Given the description of an element on the screen output the (x, y) to click on. 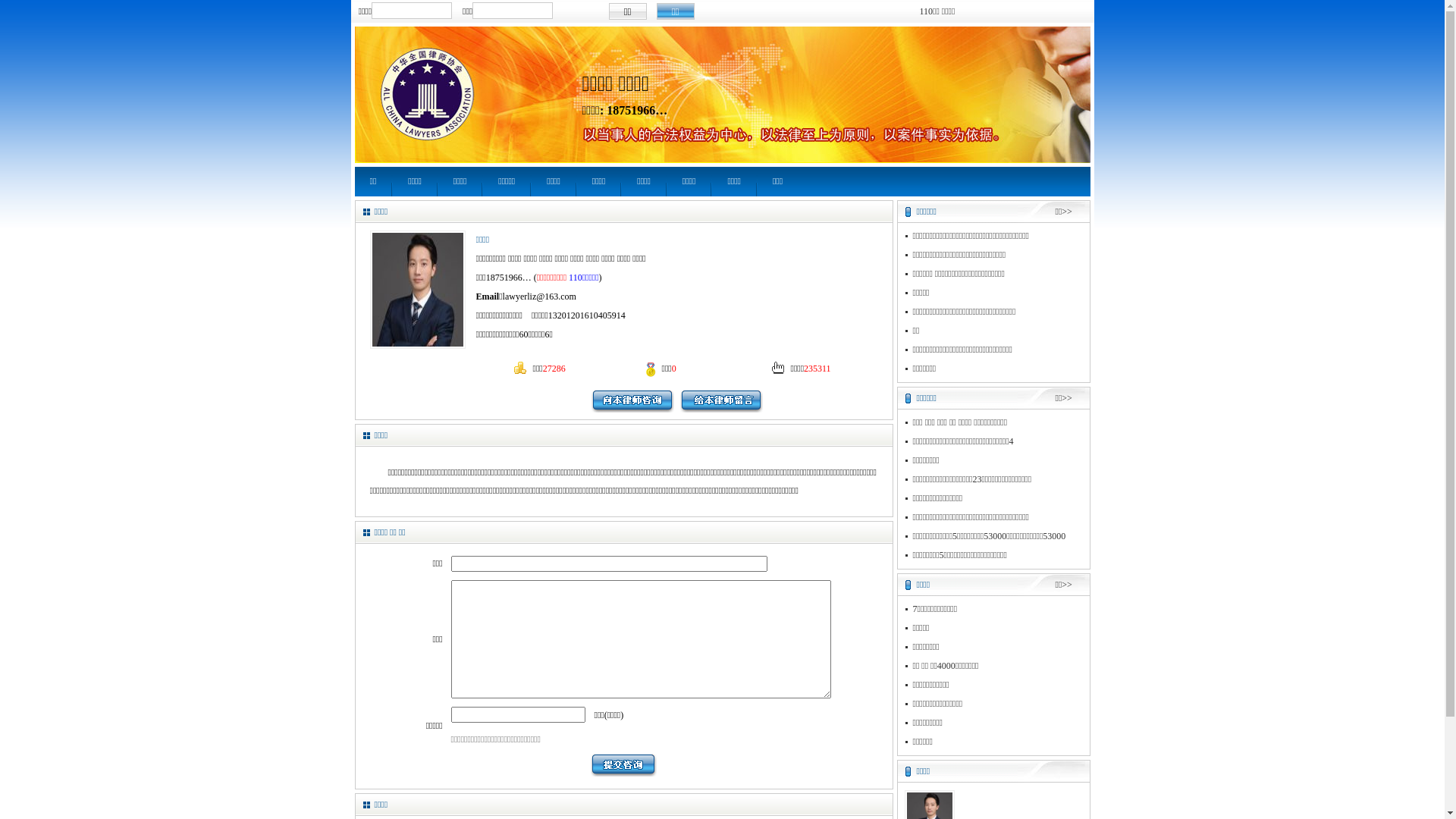
1 Element type: text (8, 7)
